Given the description of an element on the screen output the (x, y) to click on. 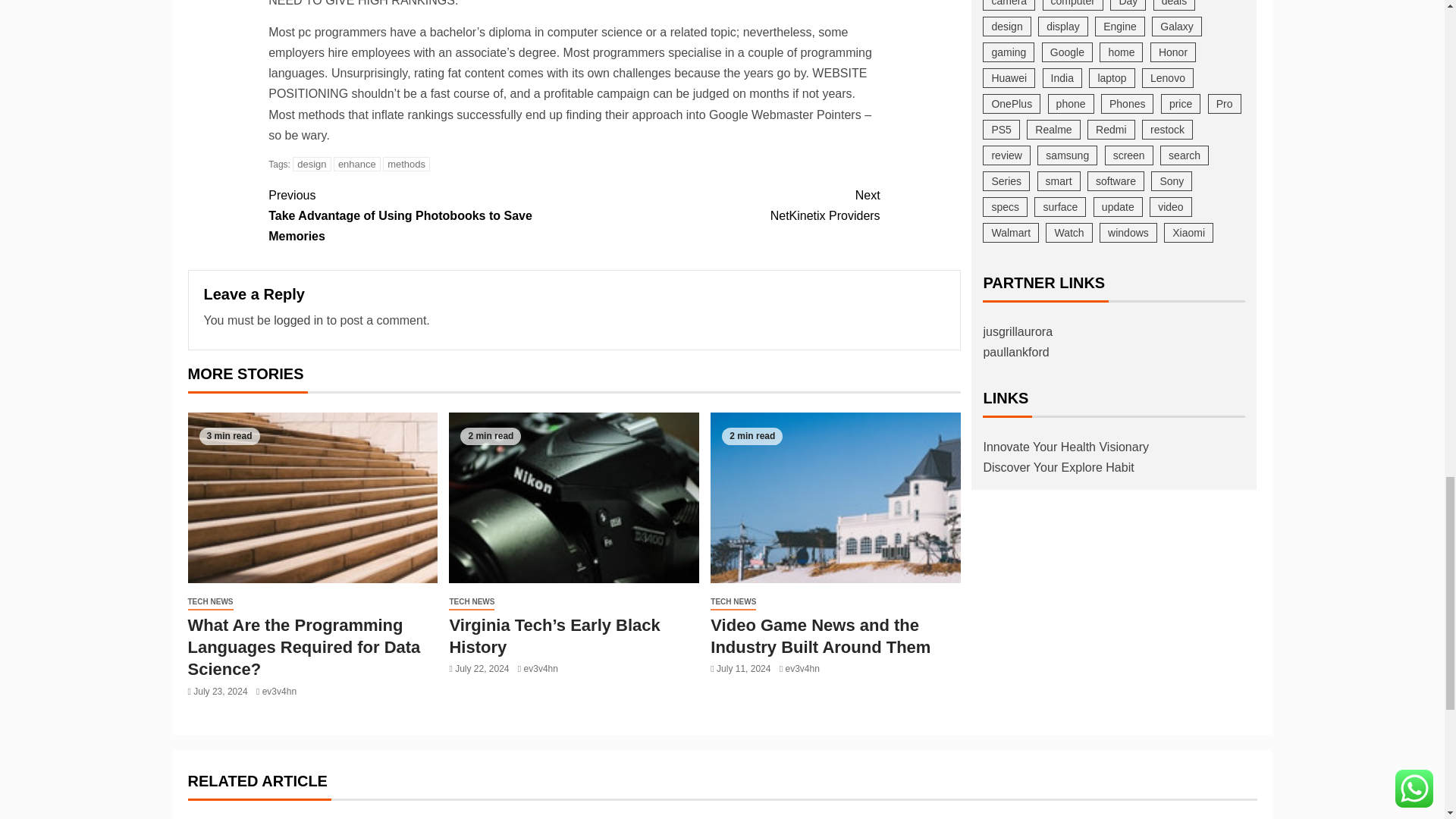
design (311, 164)
methods (405, 164)
Video Game News and the Industry Built Around Them (835, 497)
enhance (420, 216)
